Given the description of an element on the screen output the (x, y) to click on. 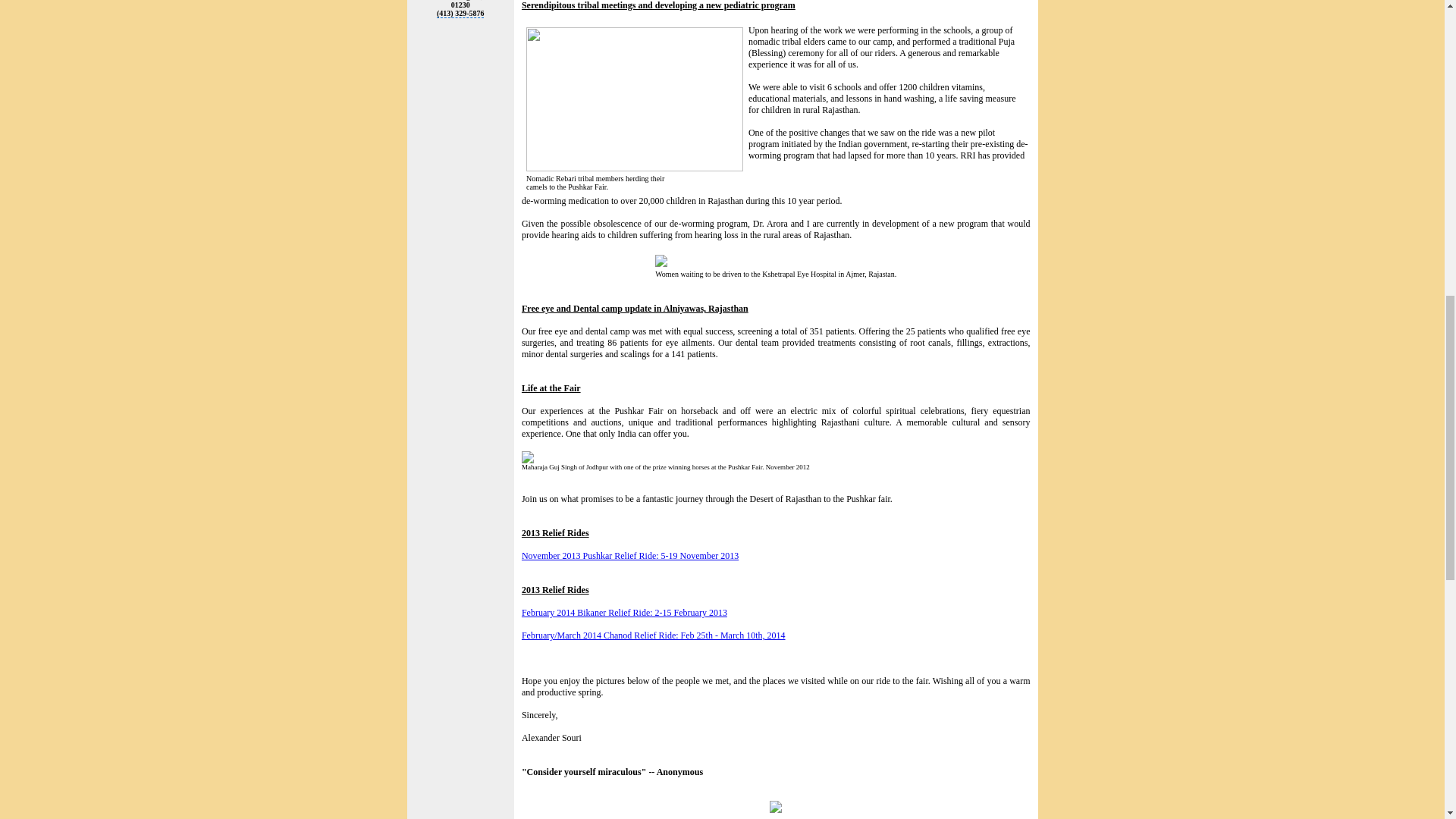
February 2014 Bikaner Relief Ride: 2-15 February 2013 (623, 612)
November 2013 Pushkar Relief Ride: 5-19 November 2013 (629, 555)
